Given the description of an element on the screen output the (x, y) to click on. 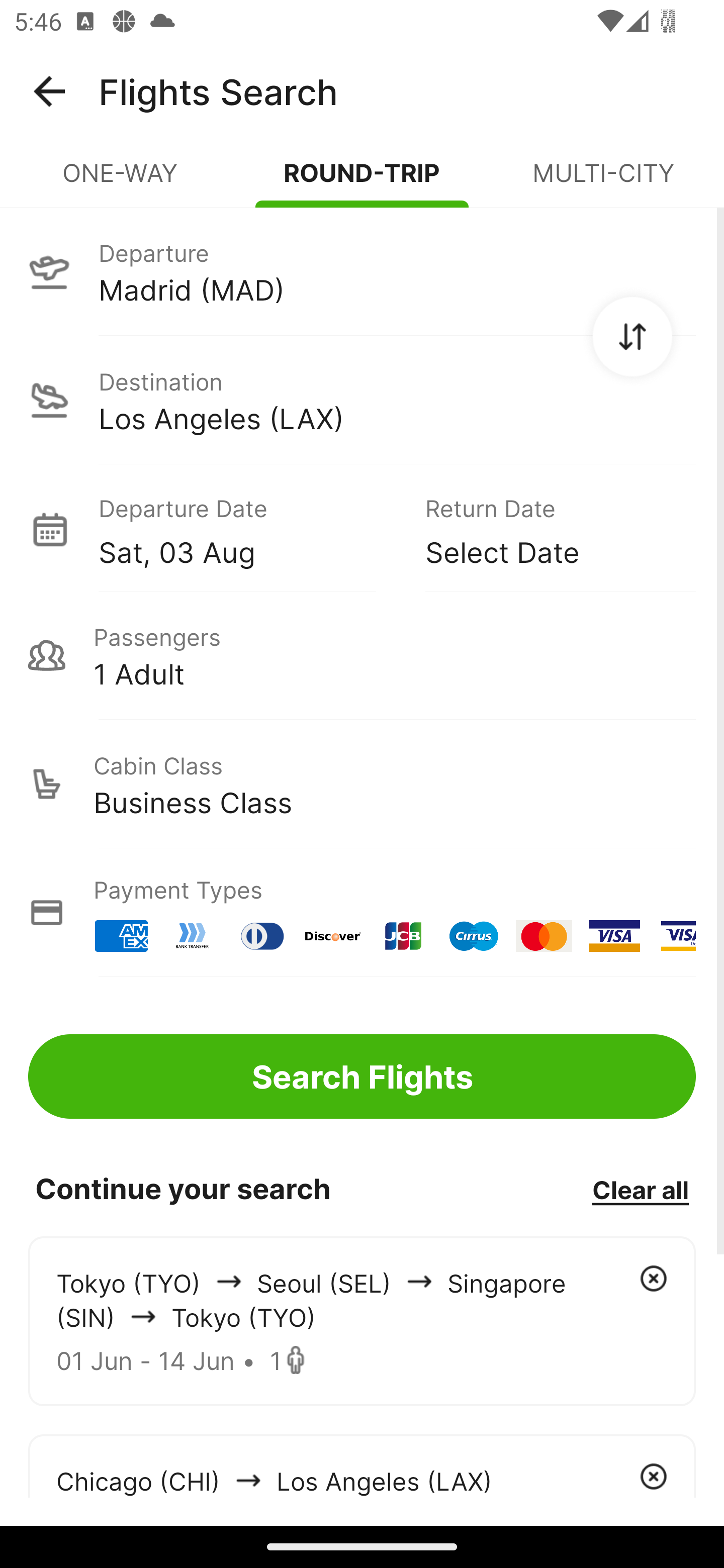
ONE-WAY (120, 180)
ROUND-TRIP (361, 180)
MULTI-CITY (603, 180)
Departure Madrid (MAD) (362, 270)
Destination Los Angeles (LAX) (362, 400)
Departure Date Sat, 03 Aug (247, 528)
Return Date Select Date (546, 528)
Passengers 1 Adult (362, 655)
Cabin Class Business Class (362, 783)
Payment Types (362, 912)
Search Flights (361, 1075)
Clear all (640, 1189)
Chicago (CHI)  arrowIcon  Los Angeles (LAX) (361, 1465)
